Given the description of an element on the screen output the (x, y) to click on. 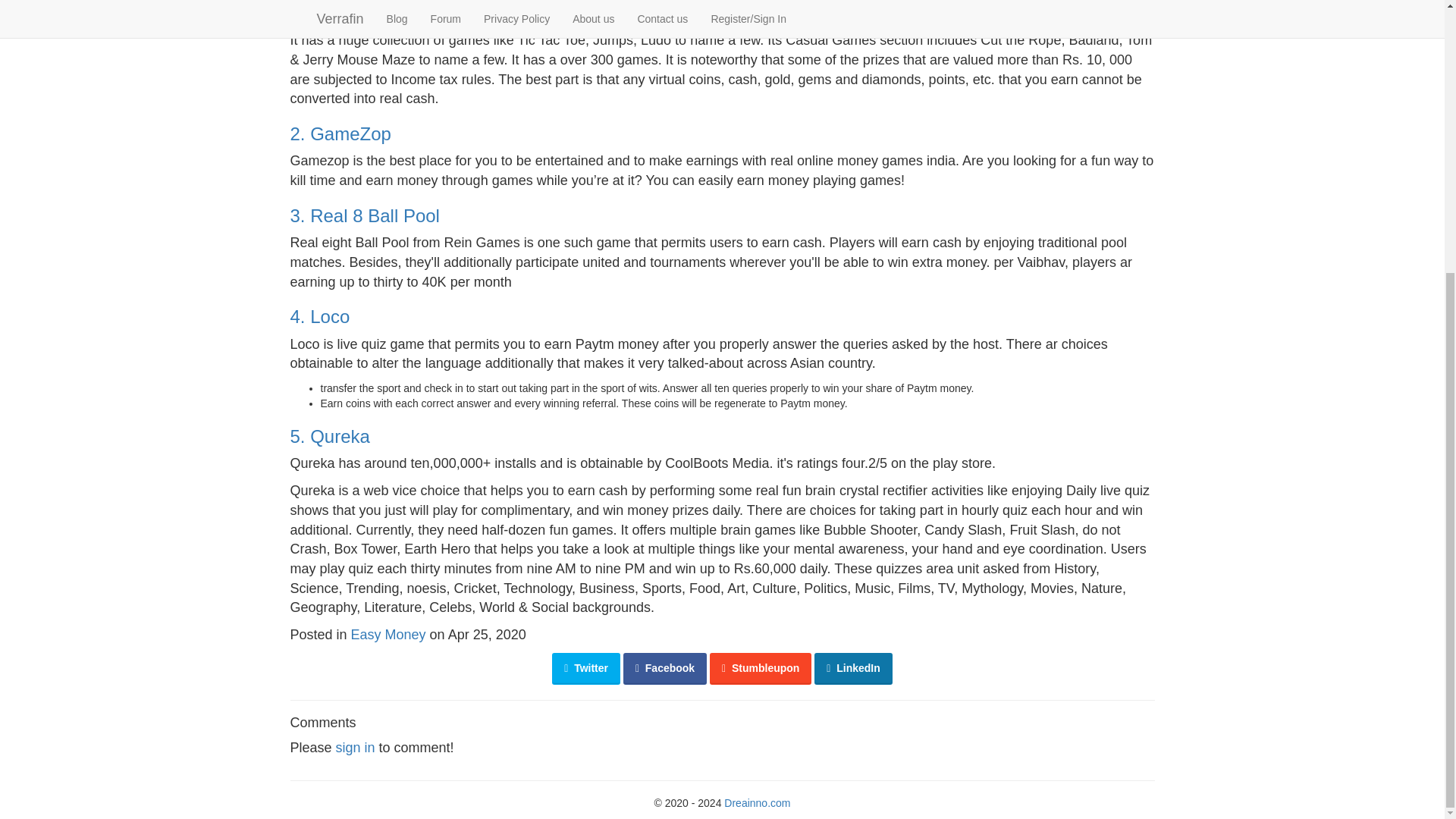
2. GameZop (339, 133)
  Twitter (585, 668)
  Stumbleupon (760, 668)
4. Loco (319, 316)
Share on StumbleUpon (760, 668)
sign in (355, 747)
Easy Money (388, 634)
Share on LinkedIn (852, 668)
Dreainno.com (756, 802)
  Facebook (664, 668)
